Given the description of an element on the screen output the (x, y) to click on. 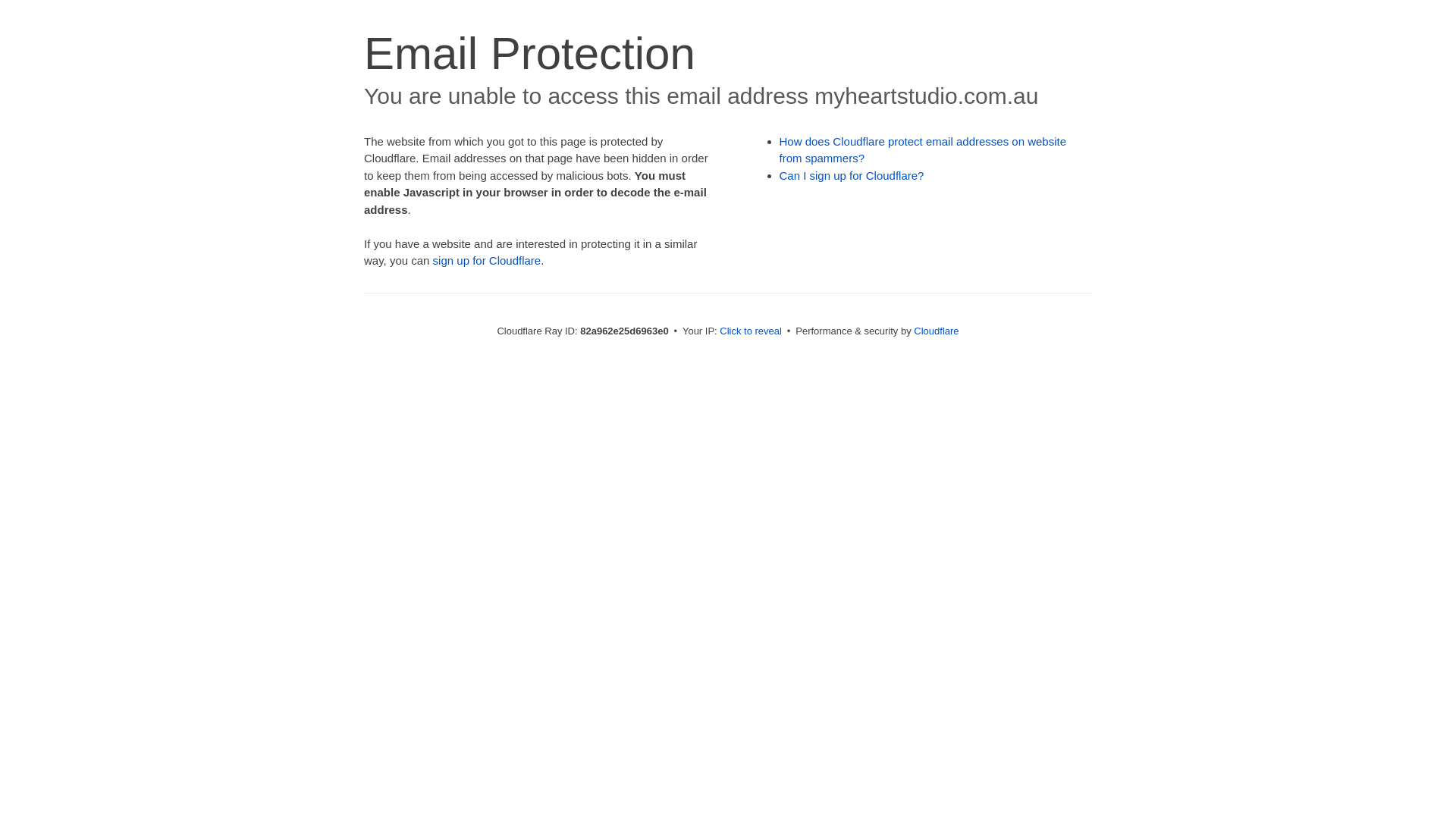
Click to reveal Element type: text (750, 330)
Can I sign up for Cloudflare? Element type: text (851, 175)
Cloudflare Element type: text (935, 330)
sign up for Cloudflare Element type: text (487, 260)
